Given the description of an element on the screen output the (x, y) to click on. 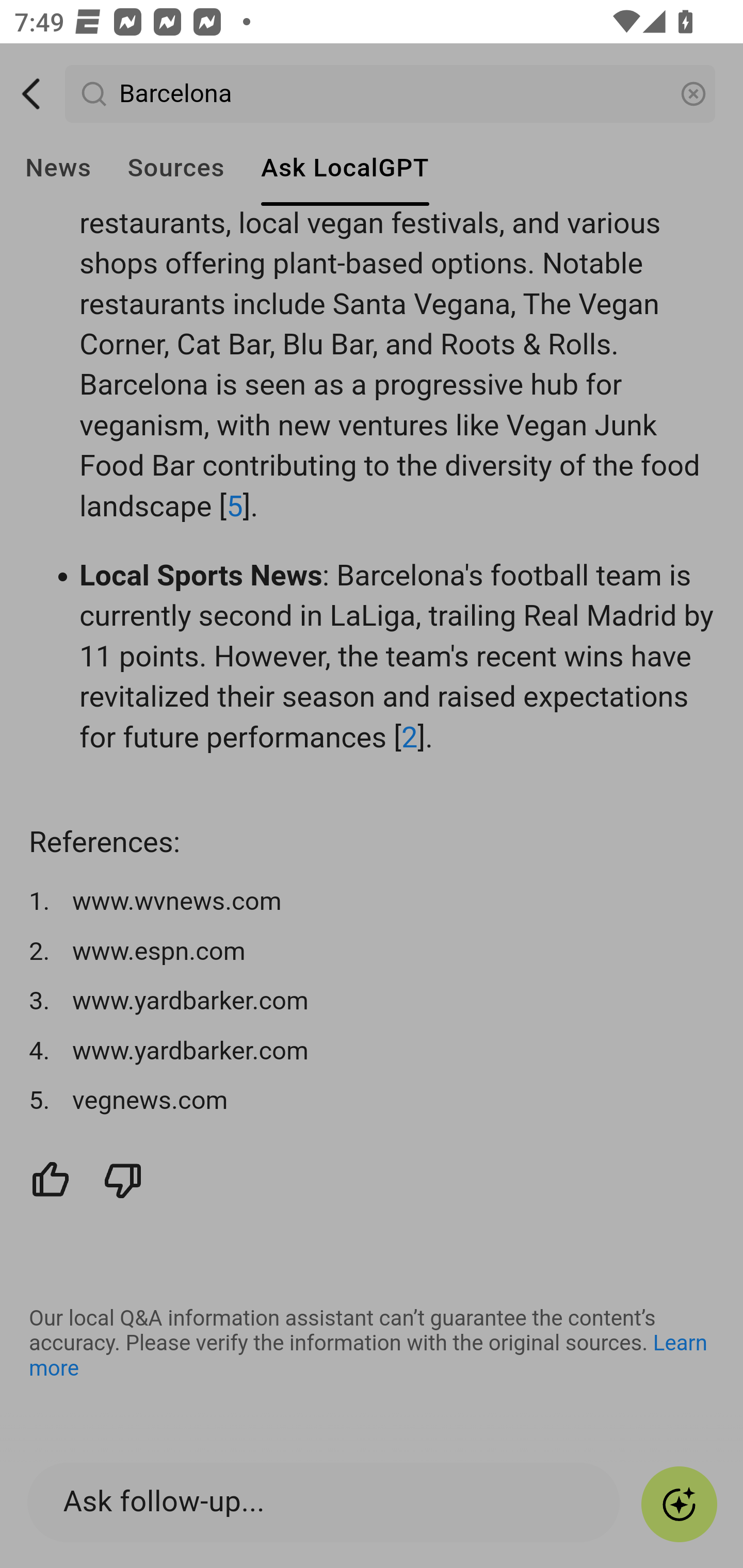
Barcelona (390, 93)
News (58, 168)
Sources (175, 168)
Ask LocalGPT (344, 168)
5 (234, 507)
2 (410, 737)
1. www.wvnews.com 1. www.wvnews.com (372, 901)
2. www.espn.com 2. www.espn.com (372, 951)
3. www.yardbarker.com 3. www.yardbarker.com (372, 1001)
4. www.yardbarker.com 4. www.yardbarker.com (372, 1051)
5. vegnews.com 5. vegnews.com (372, 1102)
